Given the description of an element on the screen output the (x, y) to click on. 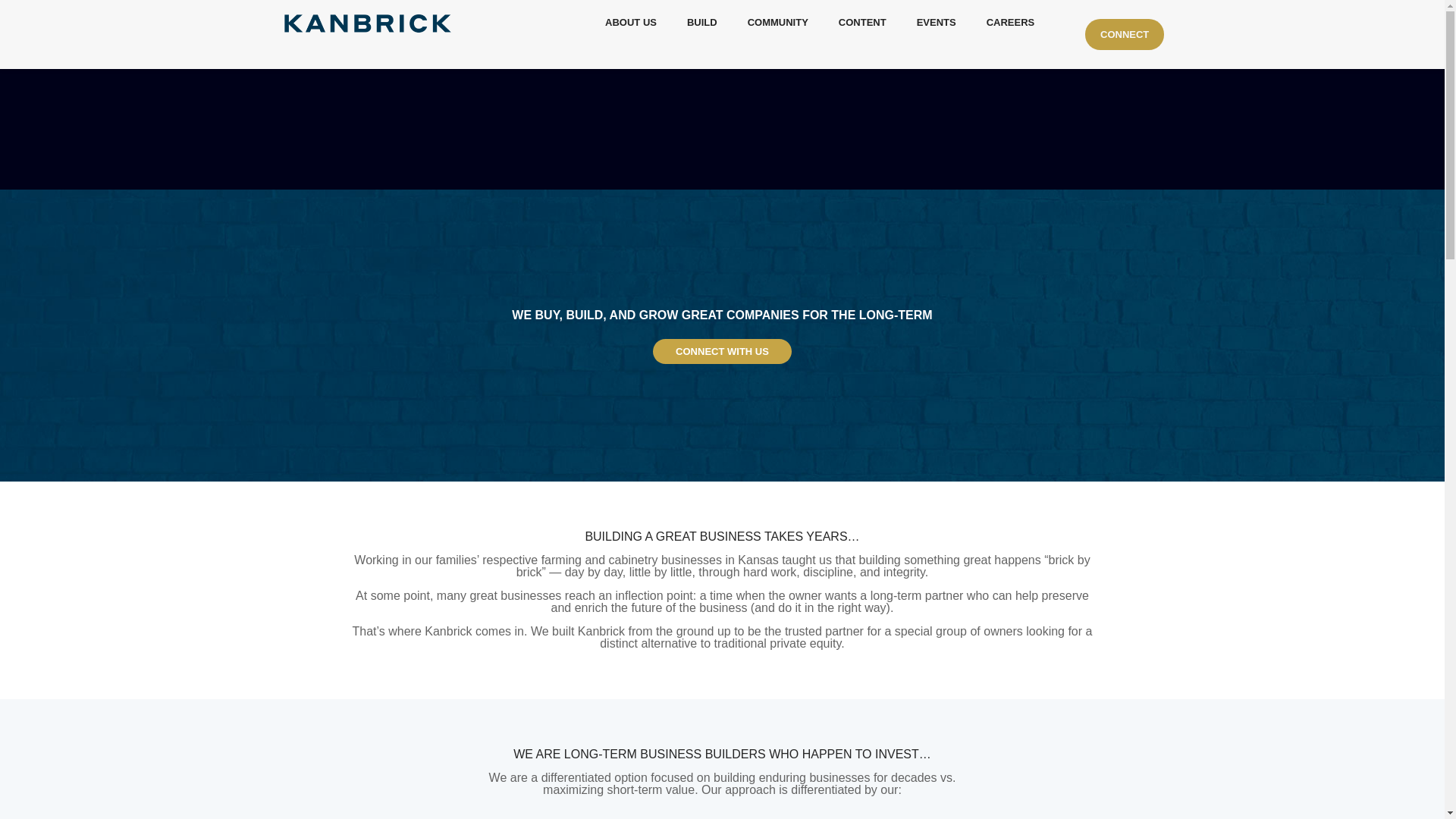
CONTENT (862, 22)
EVENTS (936, 22)
ABOUT US (630, 22)
CONNECT (1123, 33)
CAREERS (1010, 22)
CONNECT WITH US (722, 351)
Kanbrick (367, 22)
BUILD (701, 22)
COMMUNITY (778, 22)
